Given the description of an element on the screen output the (x, y) to click on. 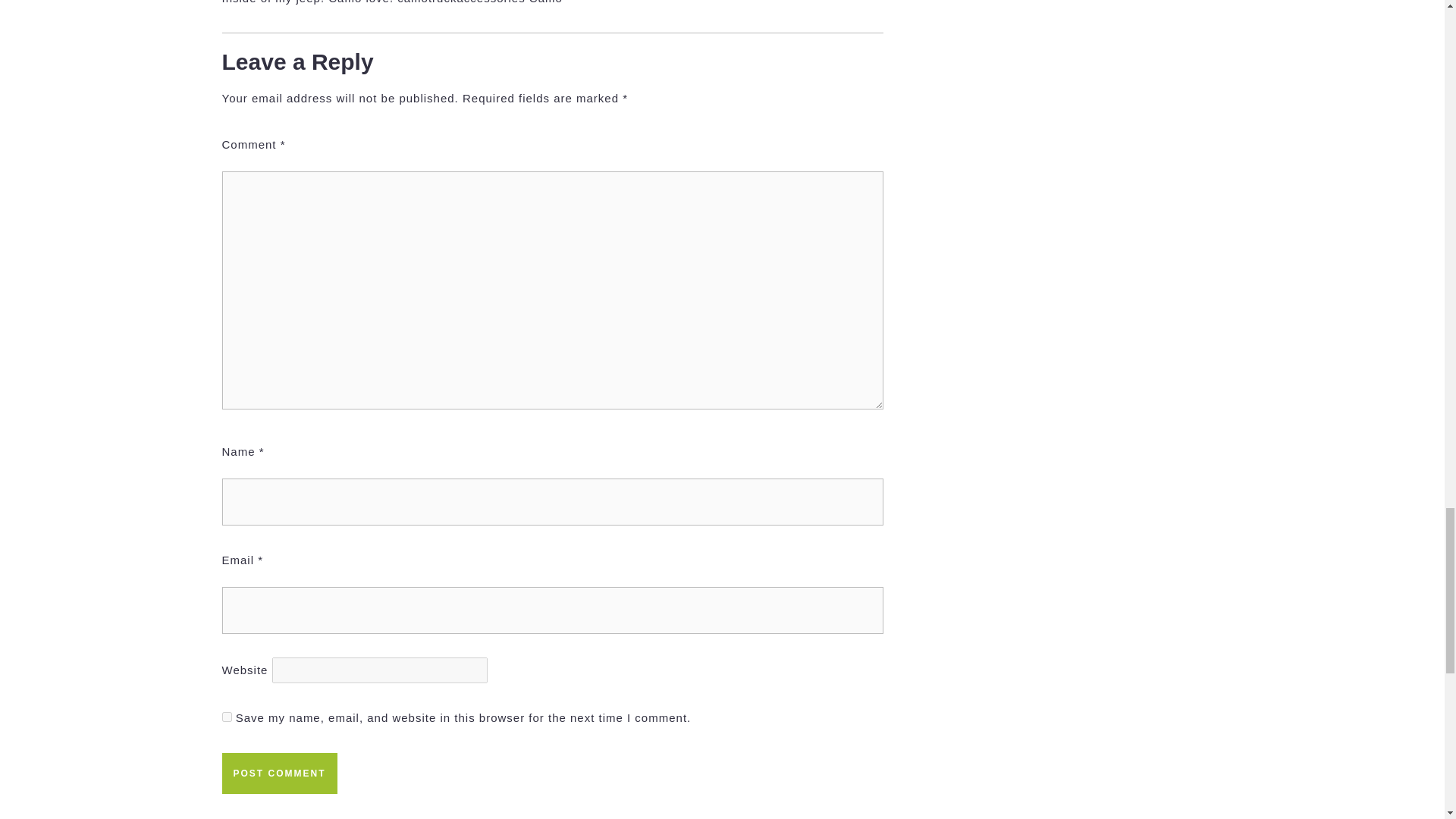
Post Comment (386, 812)
yes (278, 772)
Post Comment (716, 812)
